Given the description of an element on the screen output the (x, y) to click on. 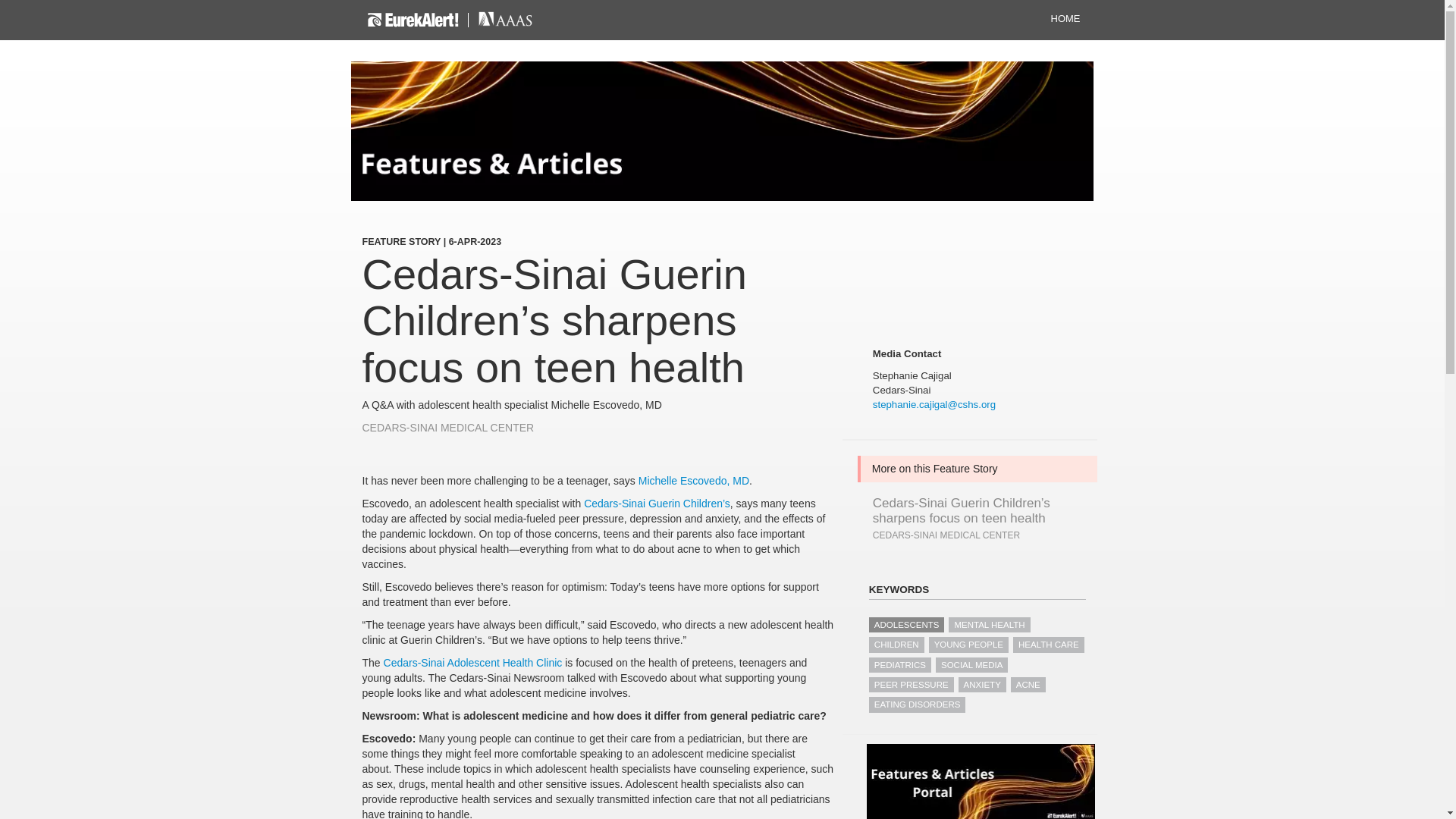
ADOLESCENTS (906, 624)
MENTAL HEALTH (989, 624)
Cedars-Sinai Adolescent Health Clinic (473, 662)
Michelle Escovedo, MD (694, 480)
ACNE (1027, 684)
EATING DISORDERS (917, 703)
SOCIAL MEDIA (971, 664)
CHILDREN (896, 644)
HEALTH CARE (1048, 644)
PEDIATRICS (900, 664)
YOUNG PEOPLE (968, 644)
ANXIETY (982, 684)
HOME (1065, 19)
PEER PRESSURE (911, 684)
